Given the description of an element on the screen output the (x, y) to click on. 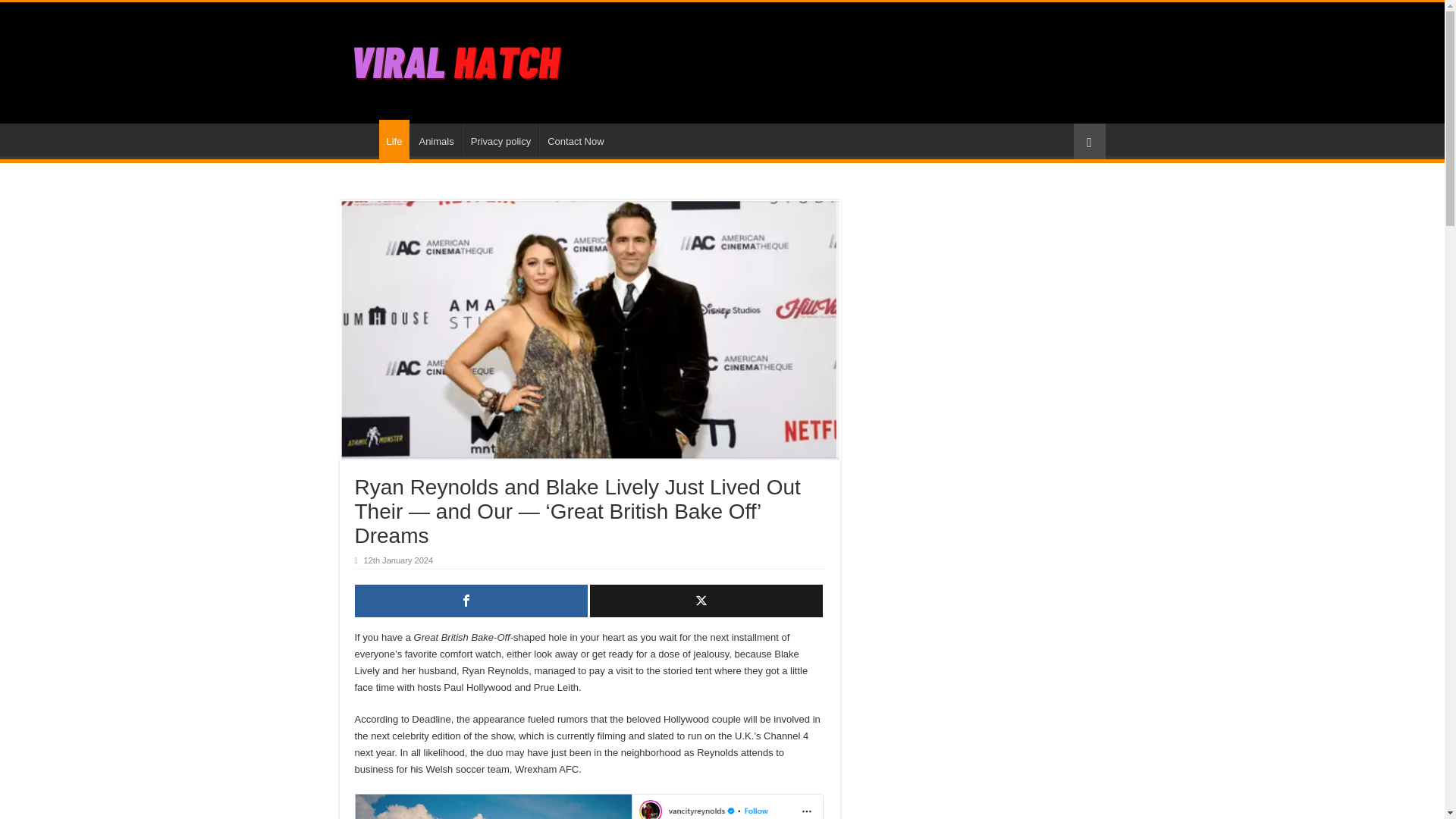
Tweet (705, 600)
Home (358, 139)
Random Article (1089, 140)
Privacy policy (500, 139)
Contact Now (574, 139)
Animals (435, 139)
Viral Hatch (458, 59)
Share on Facebook (471, 600)
